Given the description of an element on the screen output the (x, y) to click on. 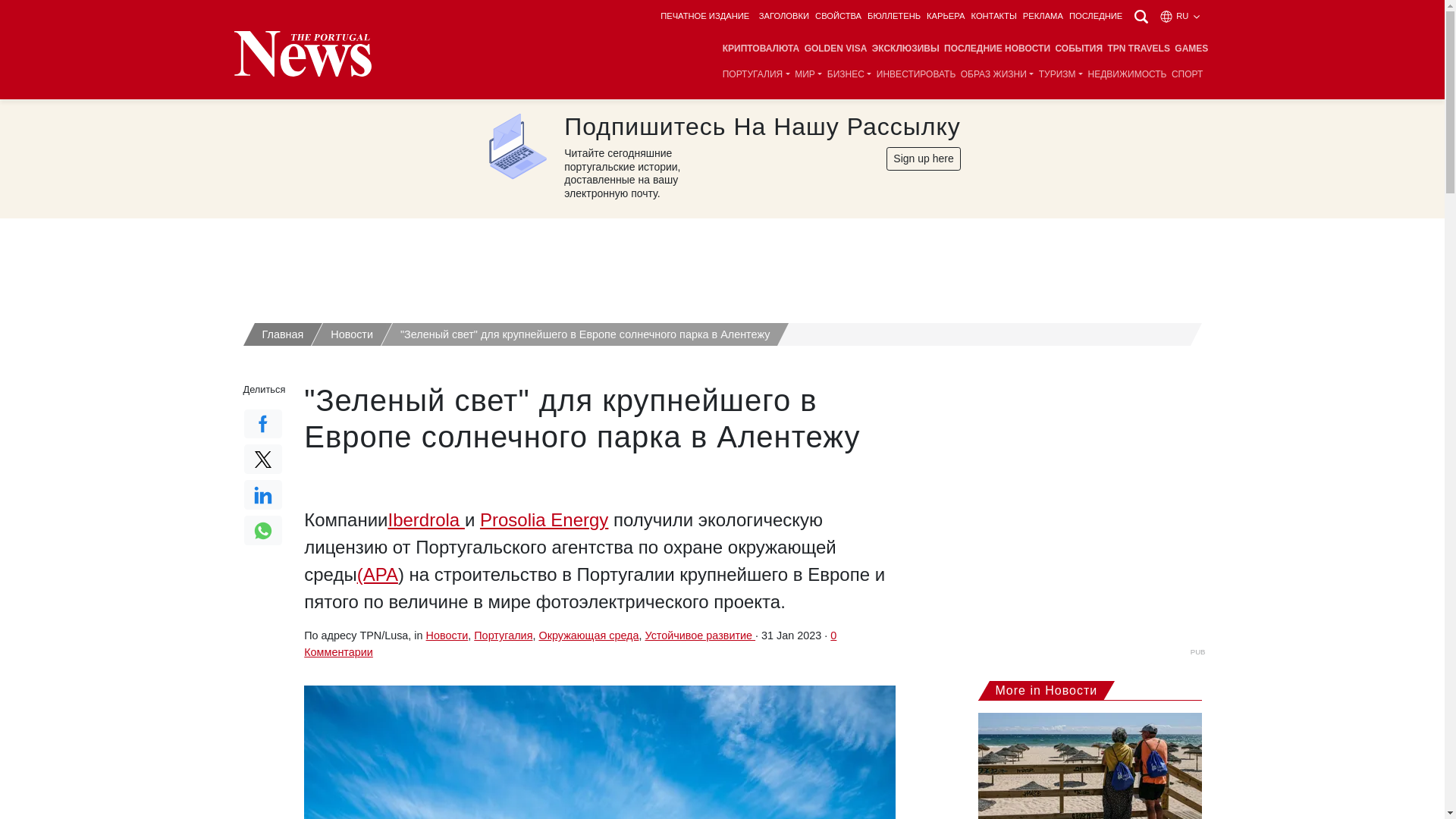
GOLDEN VISA (835, 48)
TPN TRAVELS (1138, 48)
3rd party ad content (1091, 549)
GAMES (1190, 48)
RU (1179, 15)
3rd party ad content (722, 264)
